Given the description of an element on the screen output the (x, y) to click on. 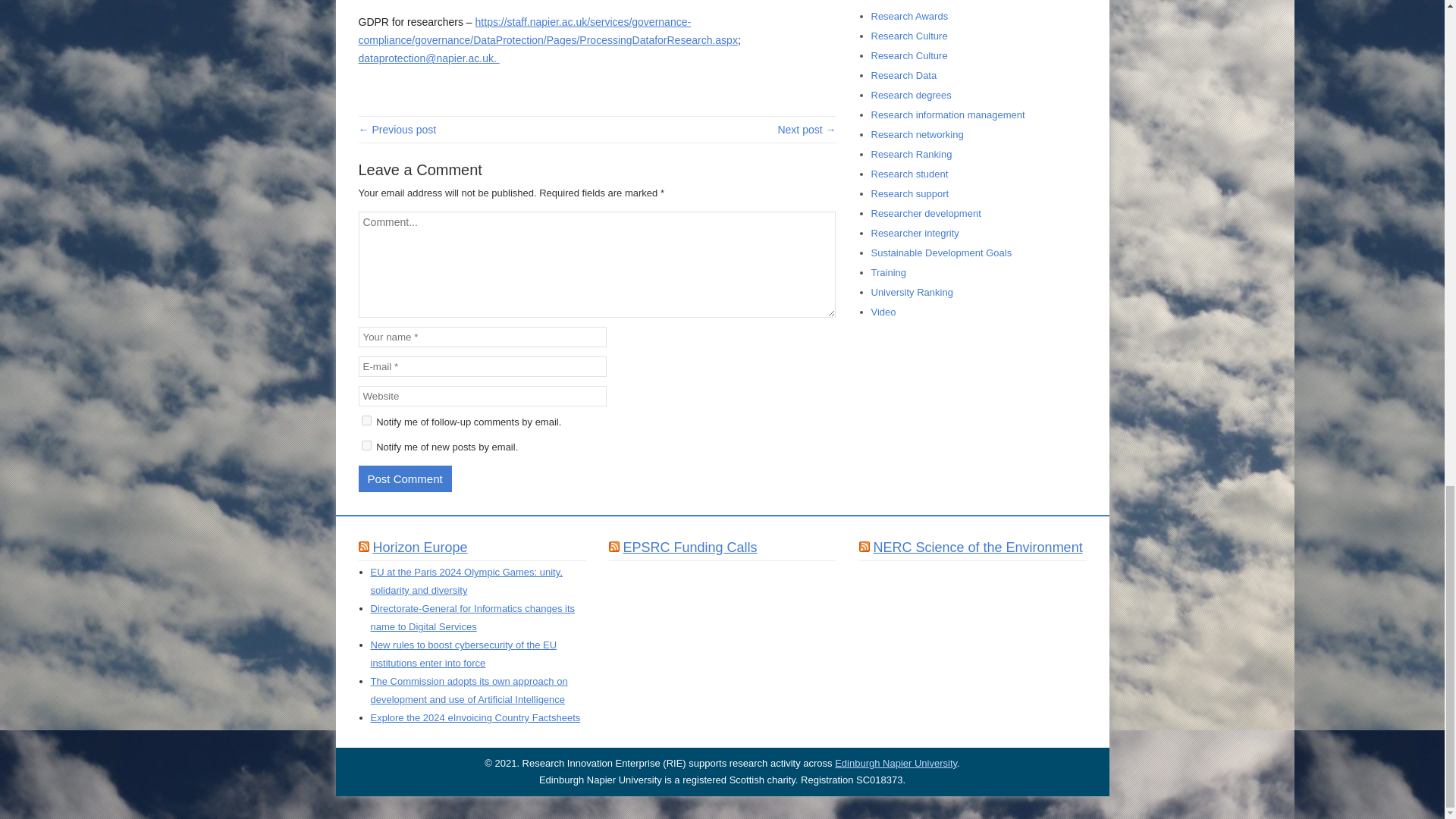
REF2021 Resumes (396, 129)
How to Prepare the Best Application for Grant Competitions (806, 129)
subscribe (366, 420)
subscribe (366, 445)
Post Comment (404, 479)
Post Comment (404, 479)
